Given the description of an element on the screen output the (x, y) to click on. 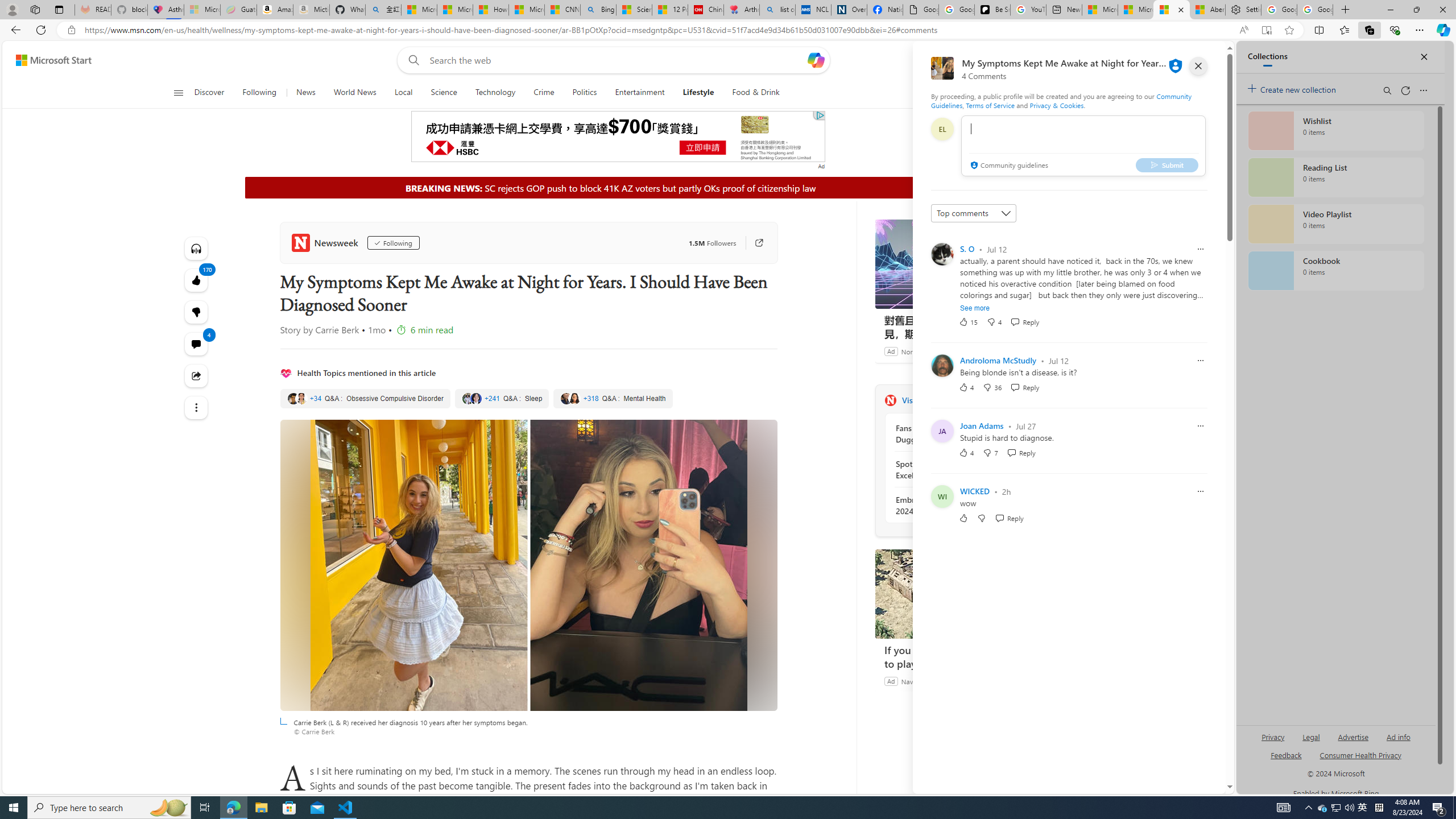
Community Guidelines (1060, 100)
Go to publisher's site (752, 242)
Sort comments by (973, 212)
Google Analytics Opt-out Browser Add-on Download Page (920, 9)
